Given the description of an element on the screen output the (x, y) to click on. 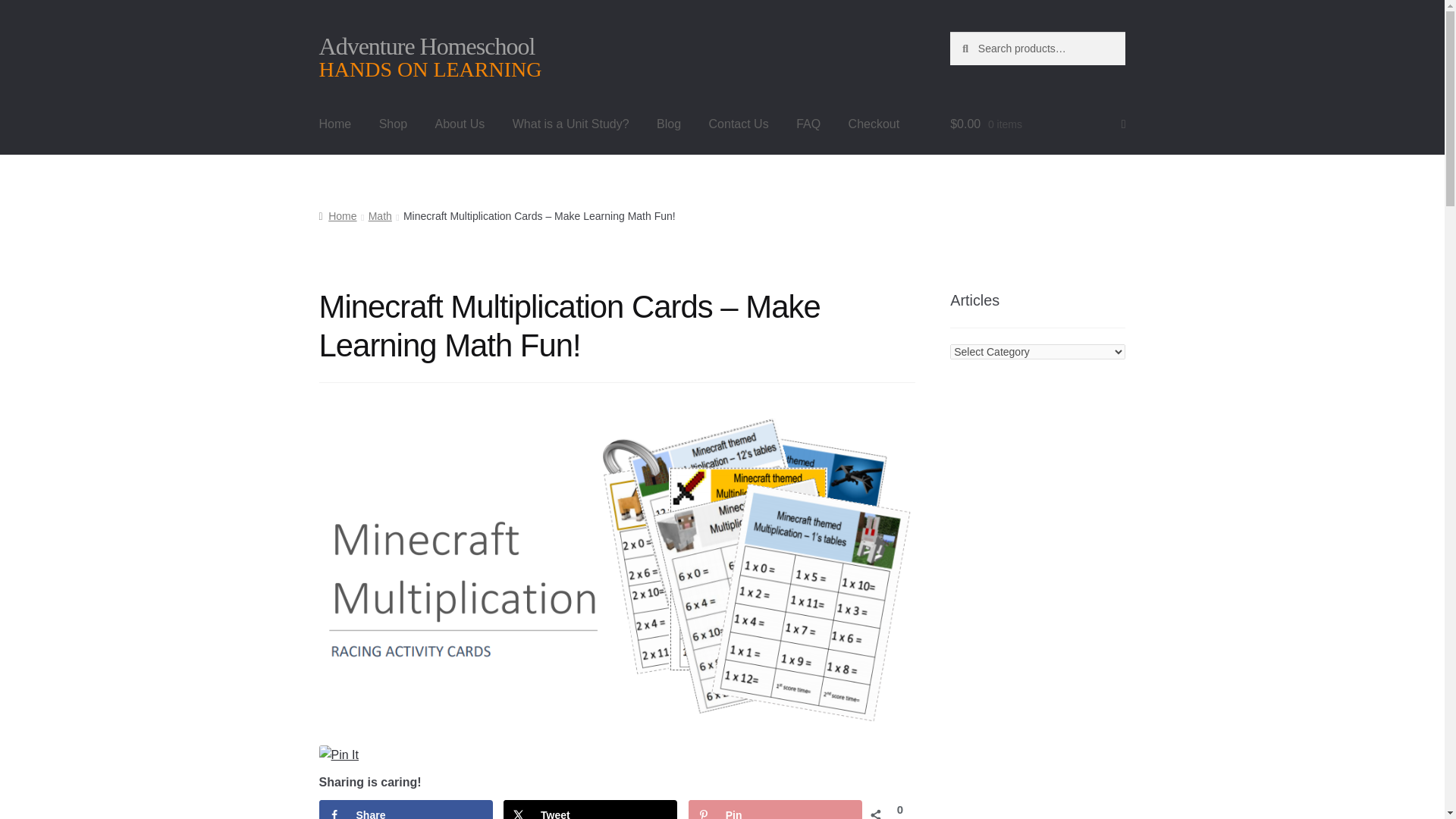
Contact Us (738, 124)
Home (335, 124)
Share on X (590, 809)
What is a Unit Study? (571, 124)
Share on Facebook (405, 809)
Save to Pinterest (774, 809)
Home (337, 215)
Tweet (590, 809)
Pin (774, 809)
